Given the description of an element on the screen output the (x, y) to click on. 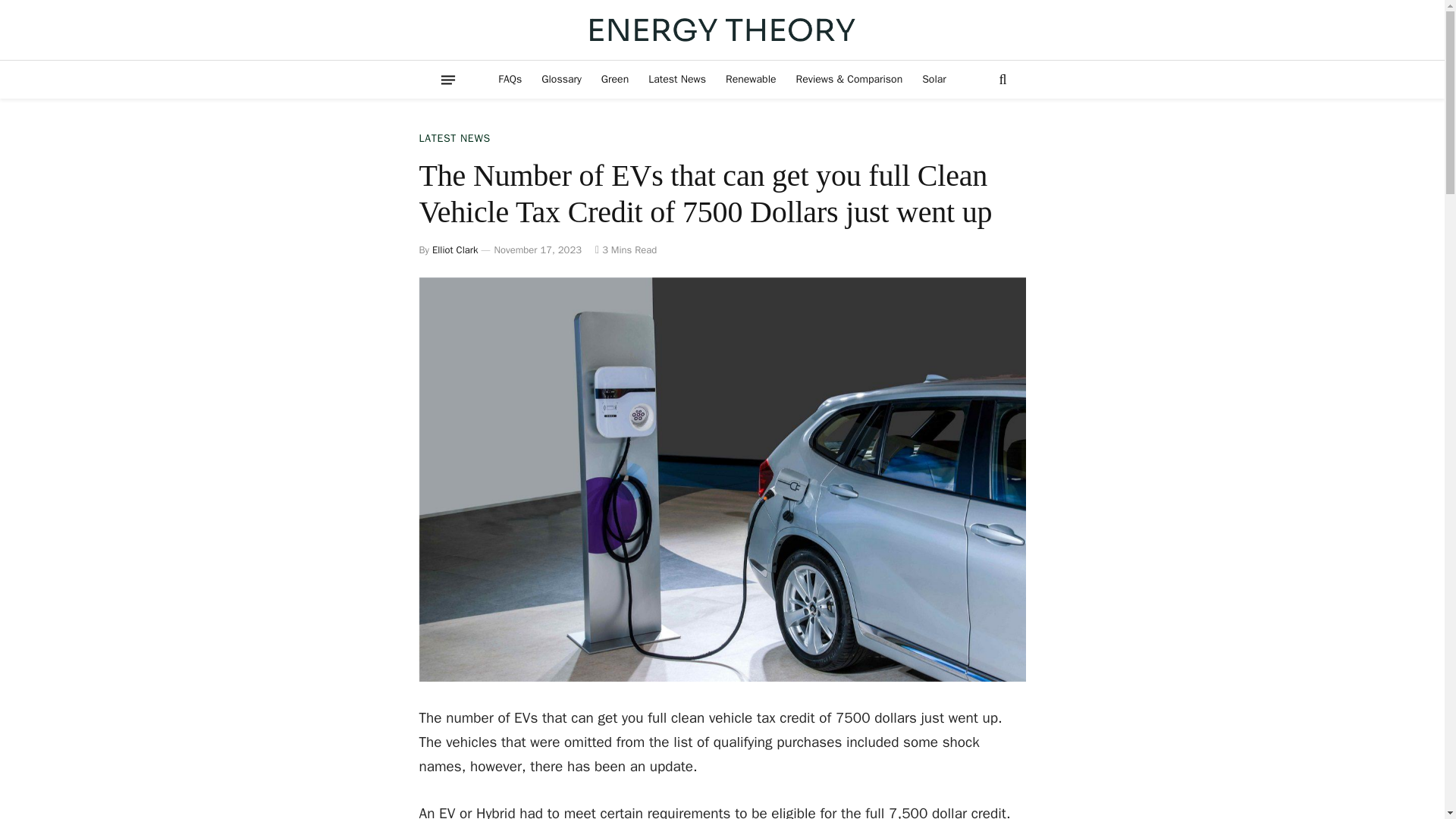
Green (615, 79)
Renewable (751, 79)
Latest News (677, 79)
Solar (934, 79)
Elliot Clark (454, 249)
FAQs (509, 79)
Glossary (561, 79)
LATEST NEWS (454, 138)
Energy Theory (722, 29)
